Given the description of an element on the screen output the (x, y) to click on. 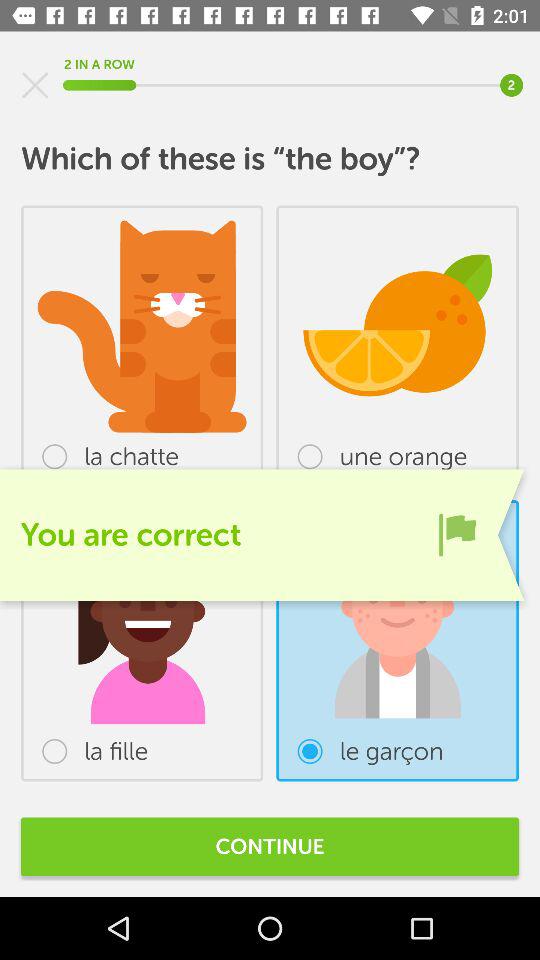
turn off item at the top left corner (35, 85)
